Given the description of an element on the screen output the (x, y) to click on. 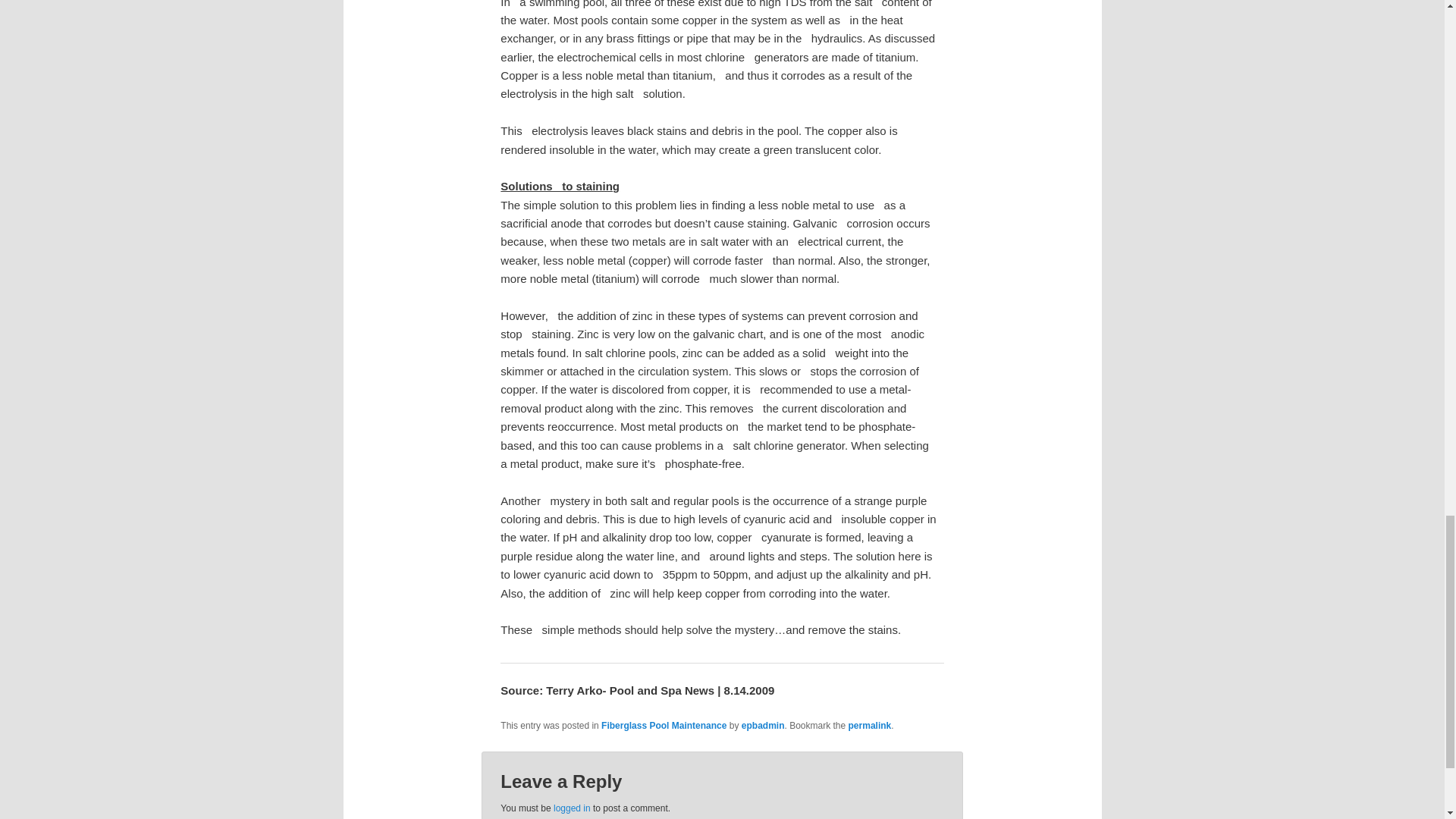
epbadmin (762, 725)
Fiberglass Pool Maintenance (663, 725)
logged in (572, 808)
permalink (869, 725)
Permalink to Solving Stains (869, 725)
